Given the description of an element on the screen output the (x, y) to click on. 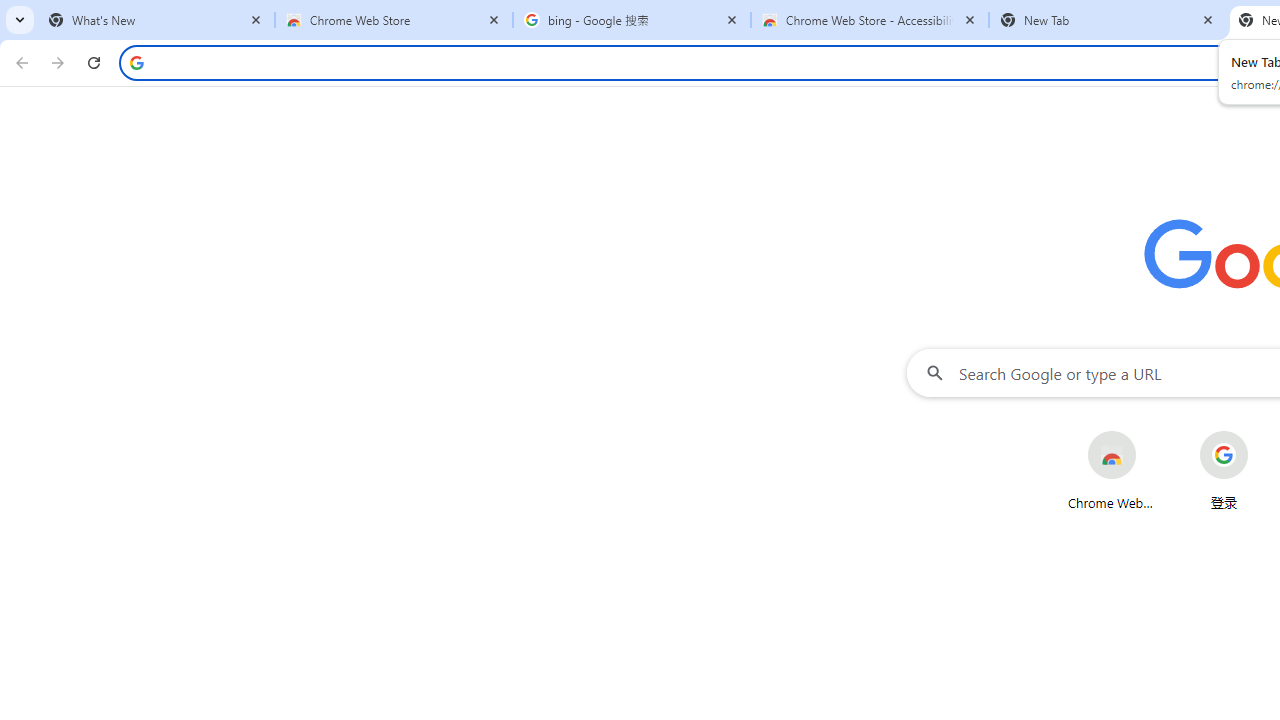
More actions for Chrome Web Store shortcut (1151, 433)
